Given the description of an element on the screen output the (x, y) to click on. 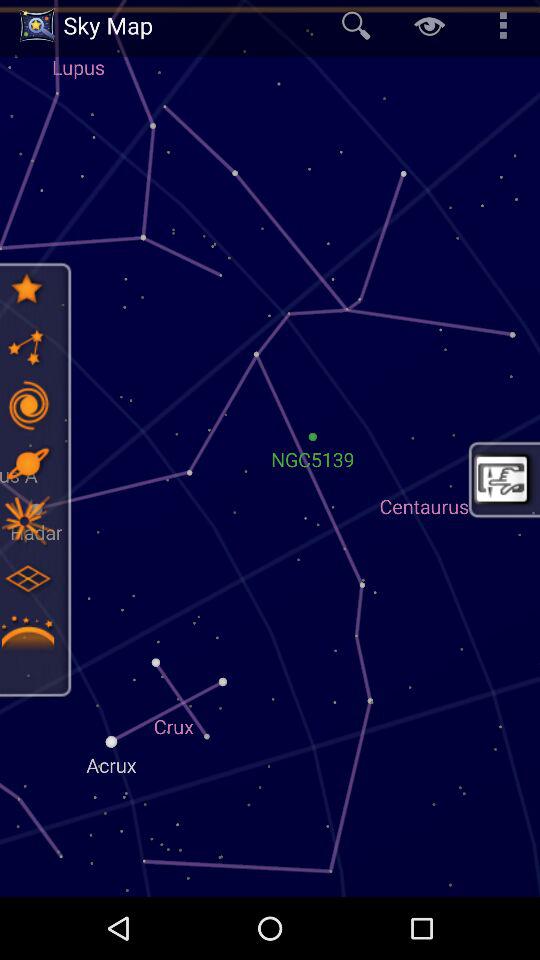
toggle for star view (27, 347)
